Given the description of an element on the screen output the (x, y) to click on. 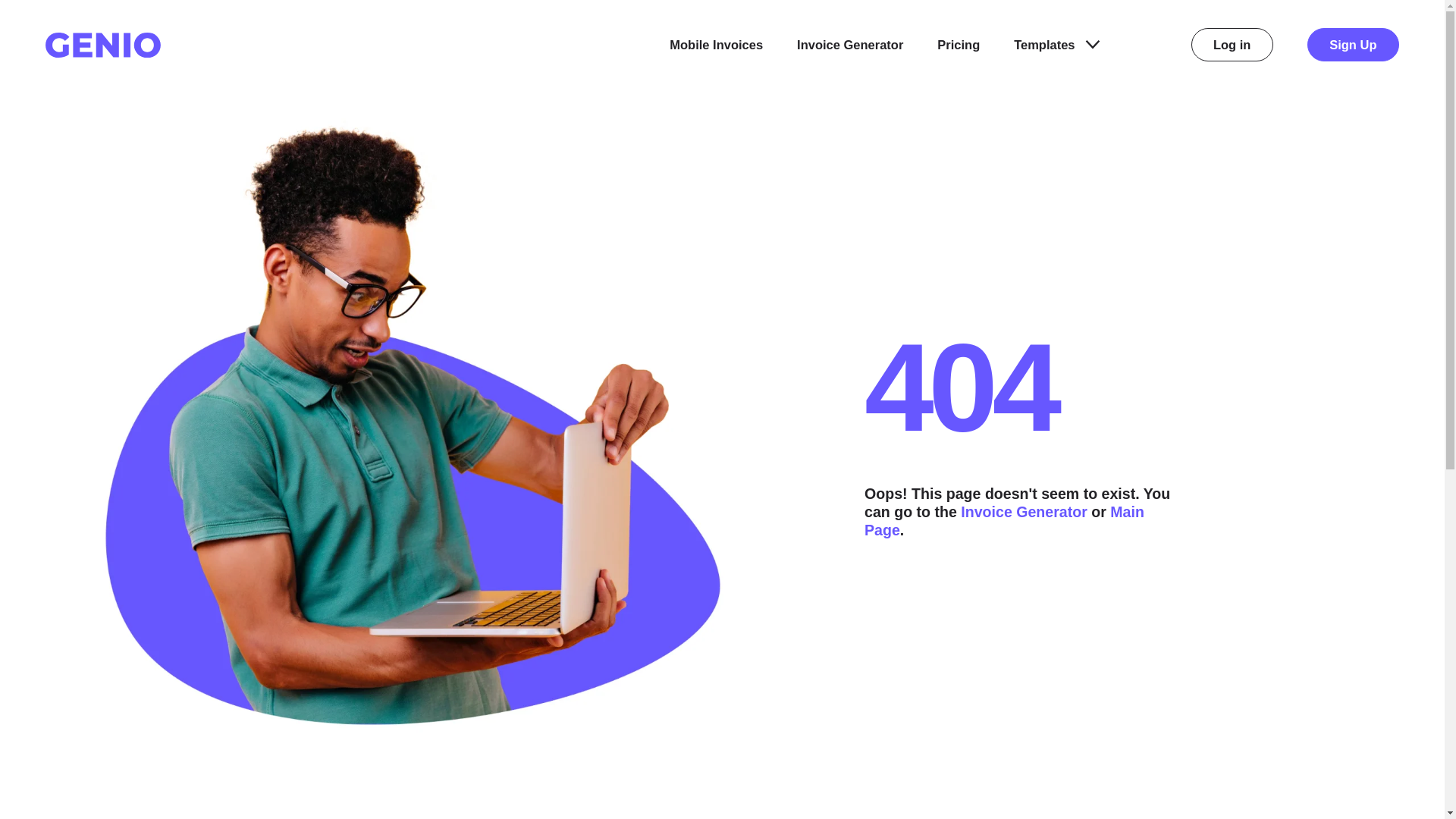
Log in (1231, 44)
Sign Up (1353, 44)
Pricing (958, 44)
Templates (1056, 44)
Invoice Generator (849, 44)
Mobile Invoices (715, 44)
Invoice Generator (1023, 511)
Main Page (1004, 520)
